Given the description of an element on the screen output the (x, y) to click on. 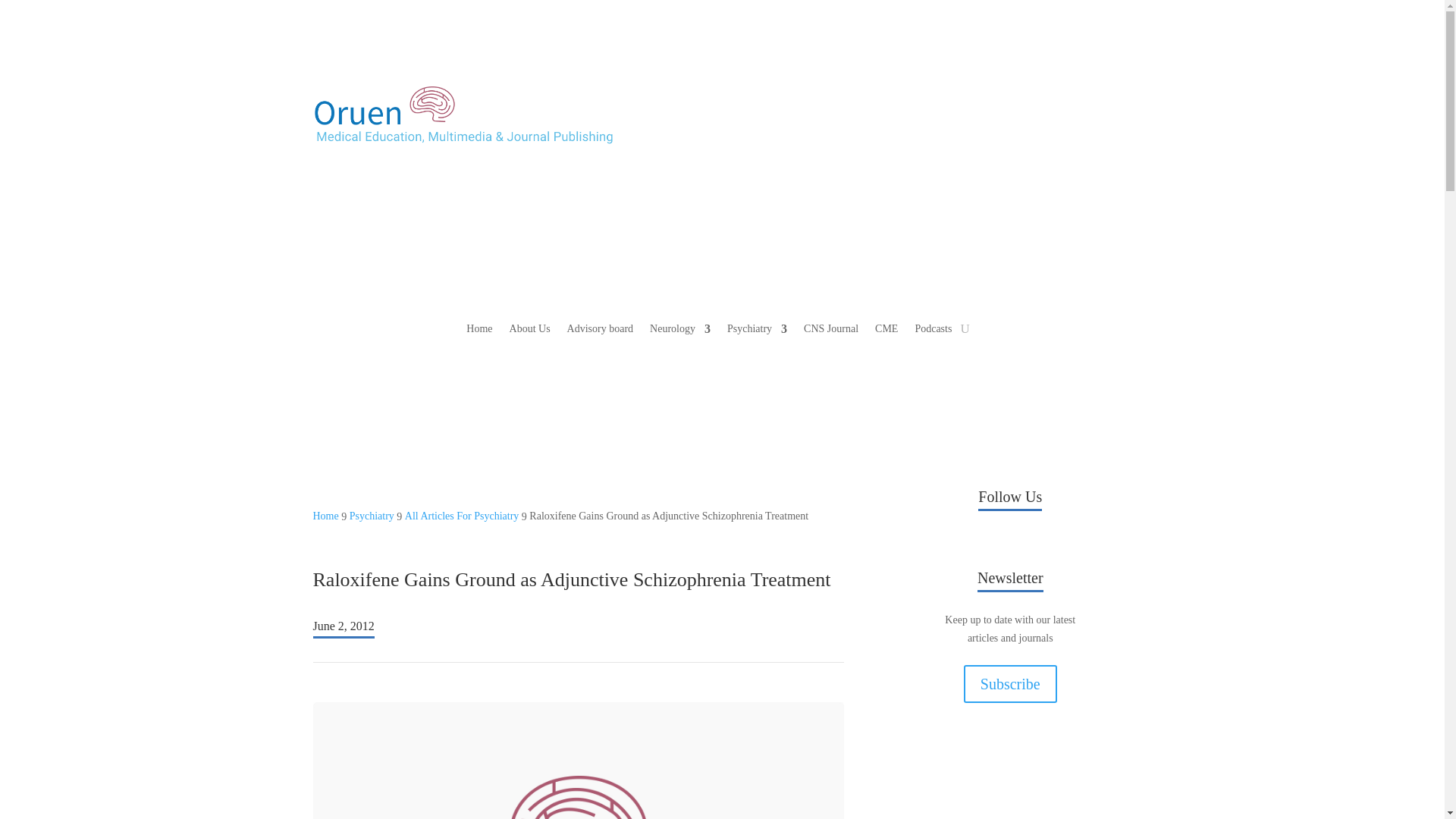
oruen-logo (462, 115)
Follow on Facebook (964, 541)
Follow on Instagram (1055, 541)
Follow on LinkedIn (1024, 541)
All Articles For Psychiatry (461, 515)
CME (886, 331)
Neurology (679, 331)
About Us (529, 331)
Home (478, 331)
Psychiatry (371, 515)
